Given the description of an element on the screen output the (x, y) to click on. 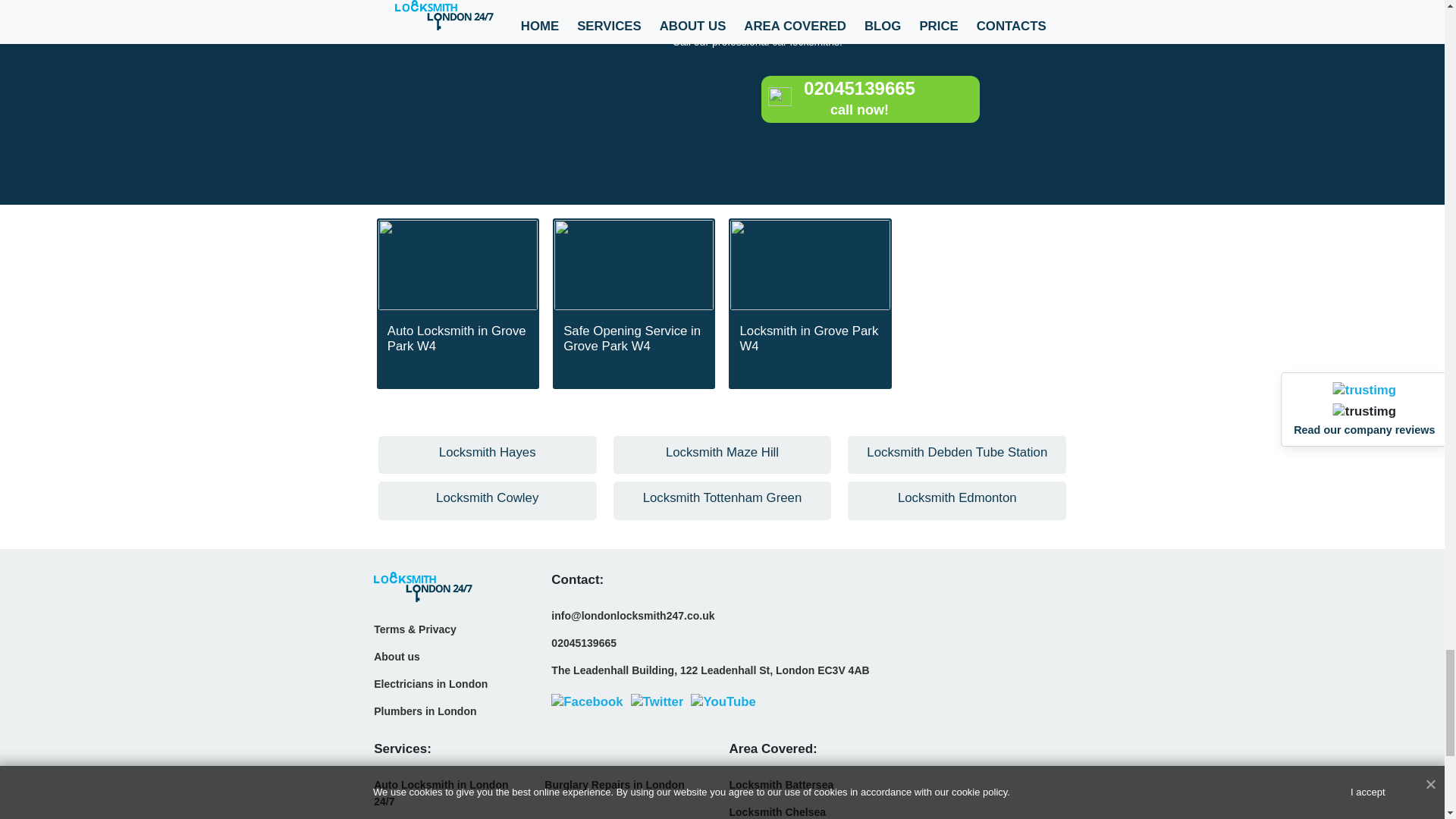
Follow Us on Facebook (587, 701)
Follow Us on Twitter (657, 701)
Follow Us on YouTube (722, 701)
